Given the description of an element on the screen output the (x, y) to click on. 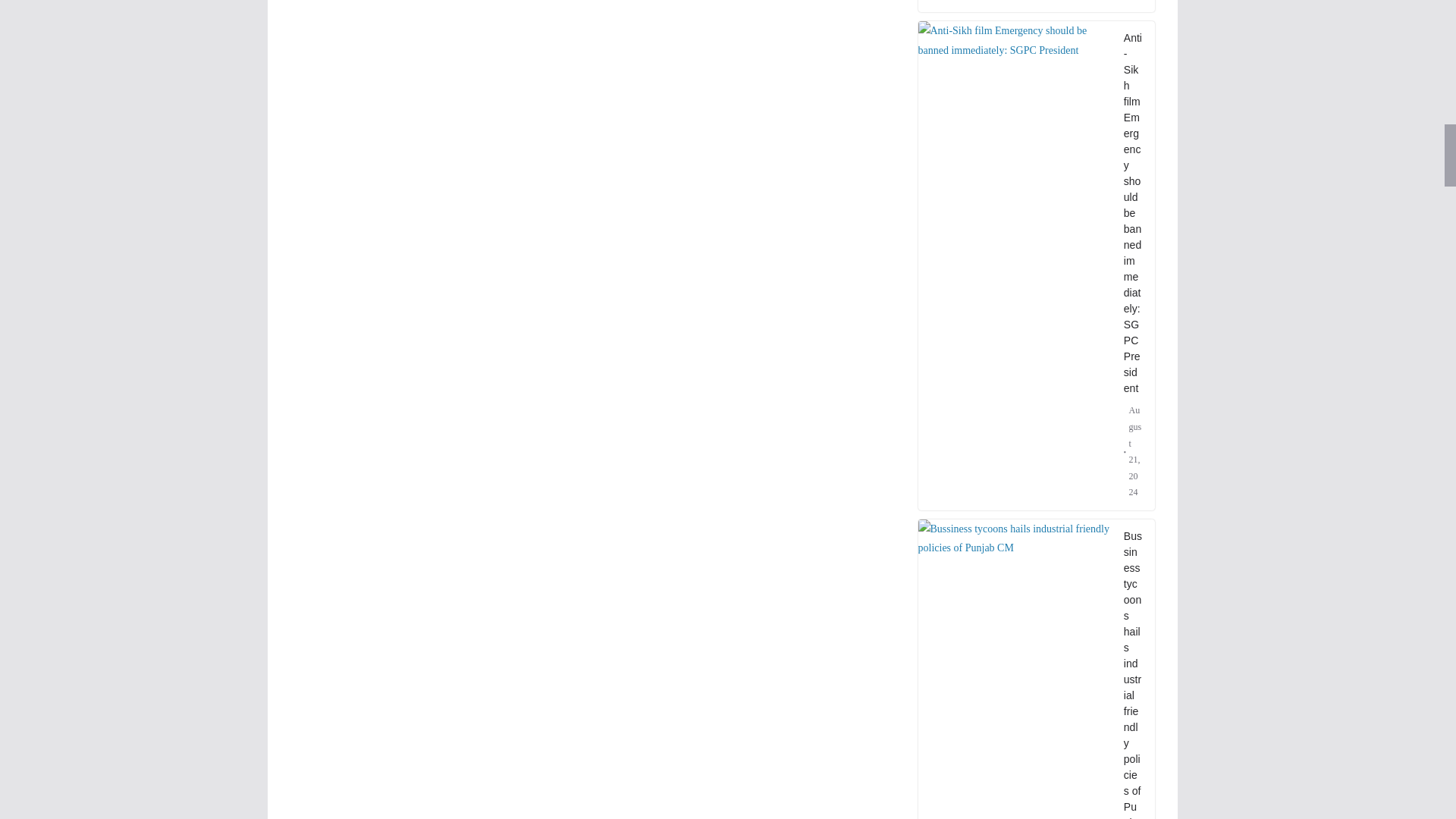
6:39 pm (1133, 2)
August 21, 2024 (1133, 2)
